Given the description of an element on the screen output the (x, y) to click on. 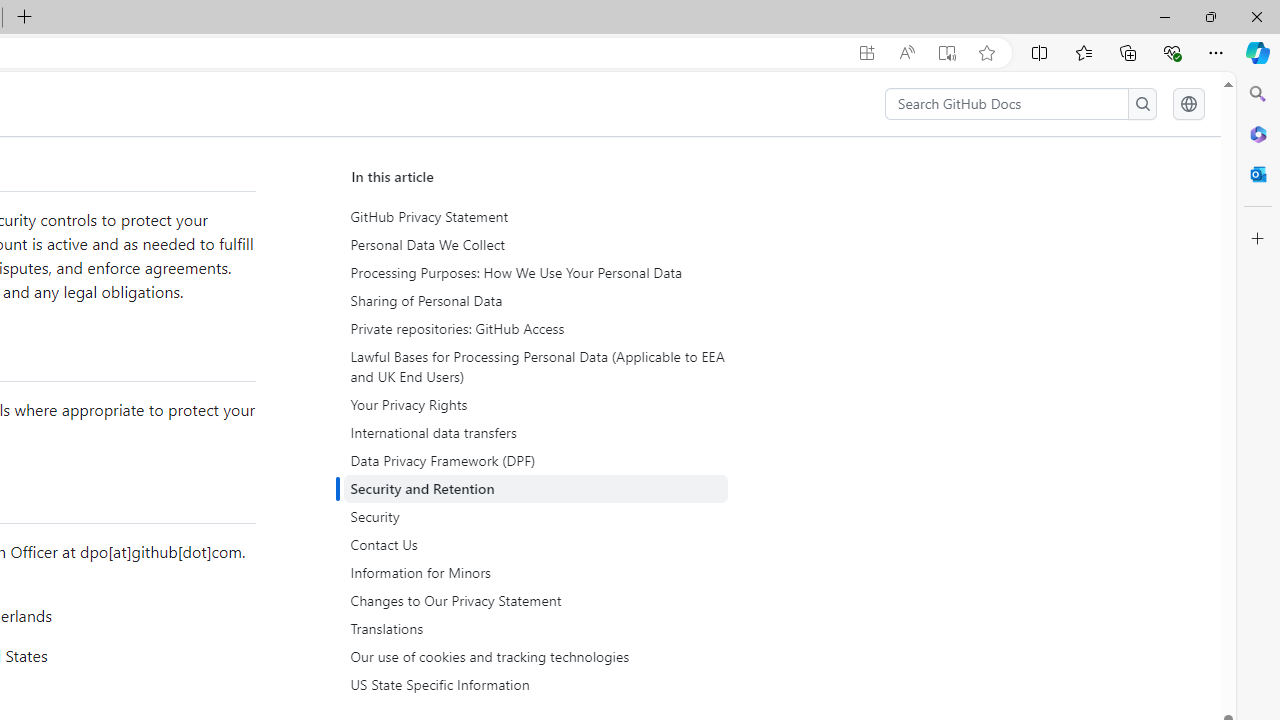
Information for Minors (538, 572)
US State Specific Information (535, 685)
Contact Us (538, 544)
GitHub Privacy Statement (538, 217)
Our use of cookies and tracking technologies (538, 656)
App available. Install GitHub Docs (867, 53)
Select language: current language is English (1188, 103)
Security and Retention (535, 489)
Processing Purposes: How We Use Your Personal Data (538, 273)
Sharing of Personal Data (538, 301)
Private repositories: GitHub Access (535, 328)
